Given the description of an element on the screen output the (x, y) to click on. 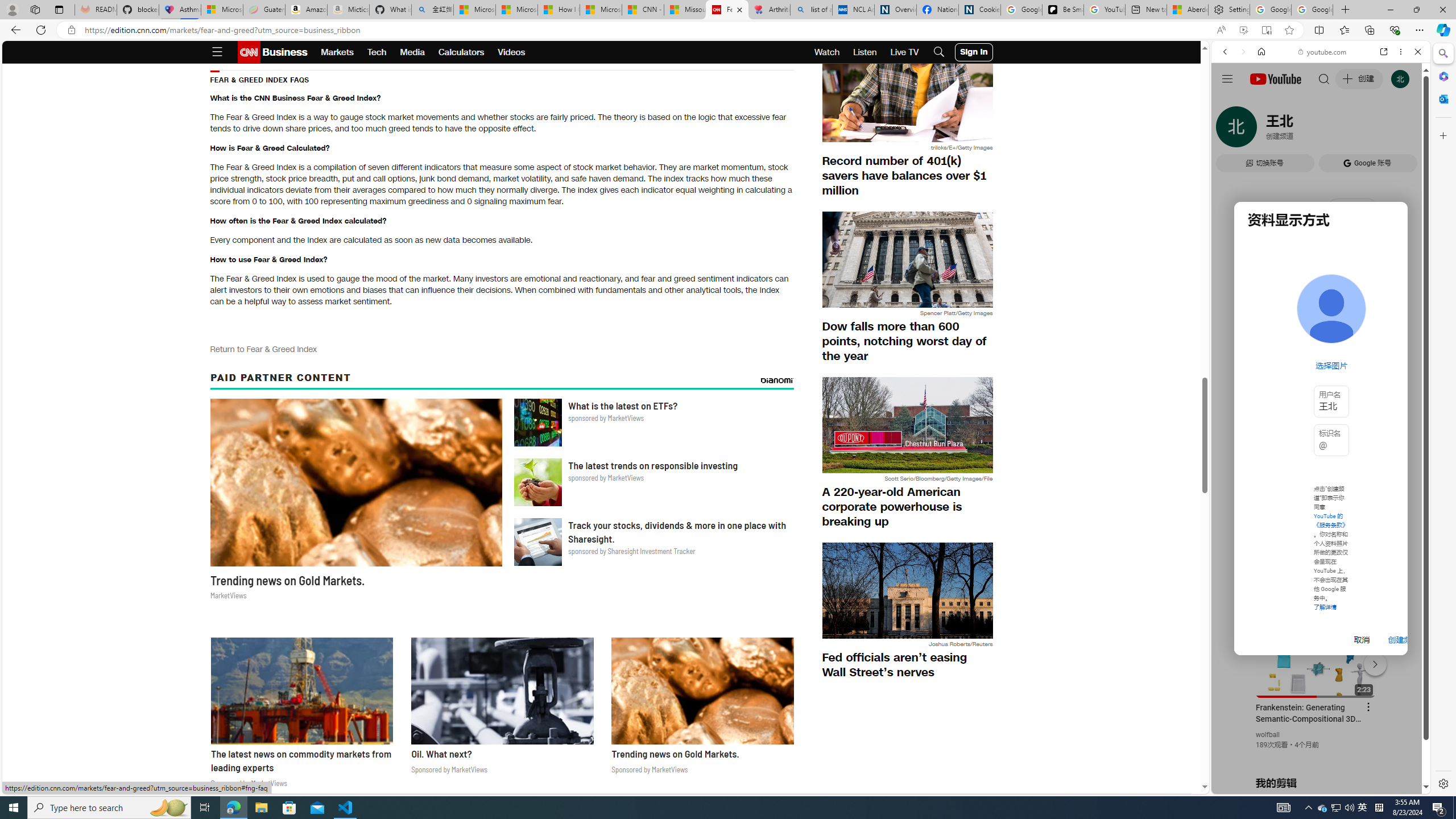
GettyImages-959095538 copy.jpg triloks/E+/Getty Images (906, 99)
NCL Adult Asthma Inhaler Choice Guideline (853, 9)
Asthma Inhalers: Names and Types (179, 9)
Videos (511, 51)
Business (283, 51)
Watch (826, 52)
